Given the description of an element on the screen output the (x, y) to click on. 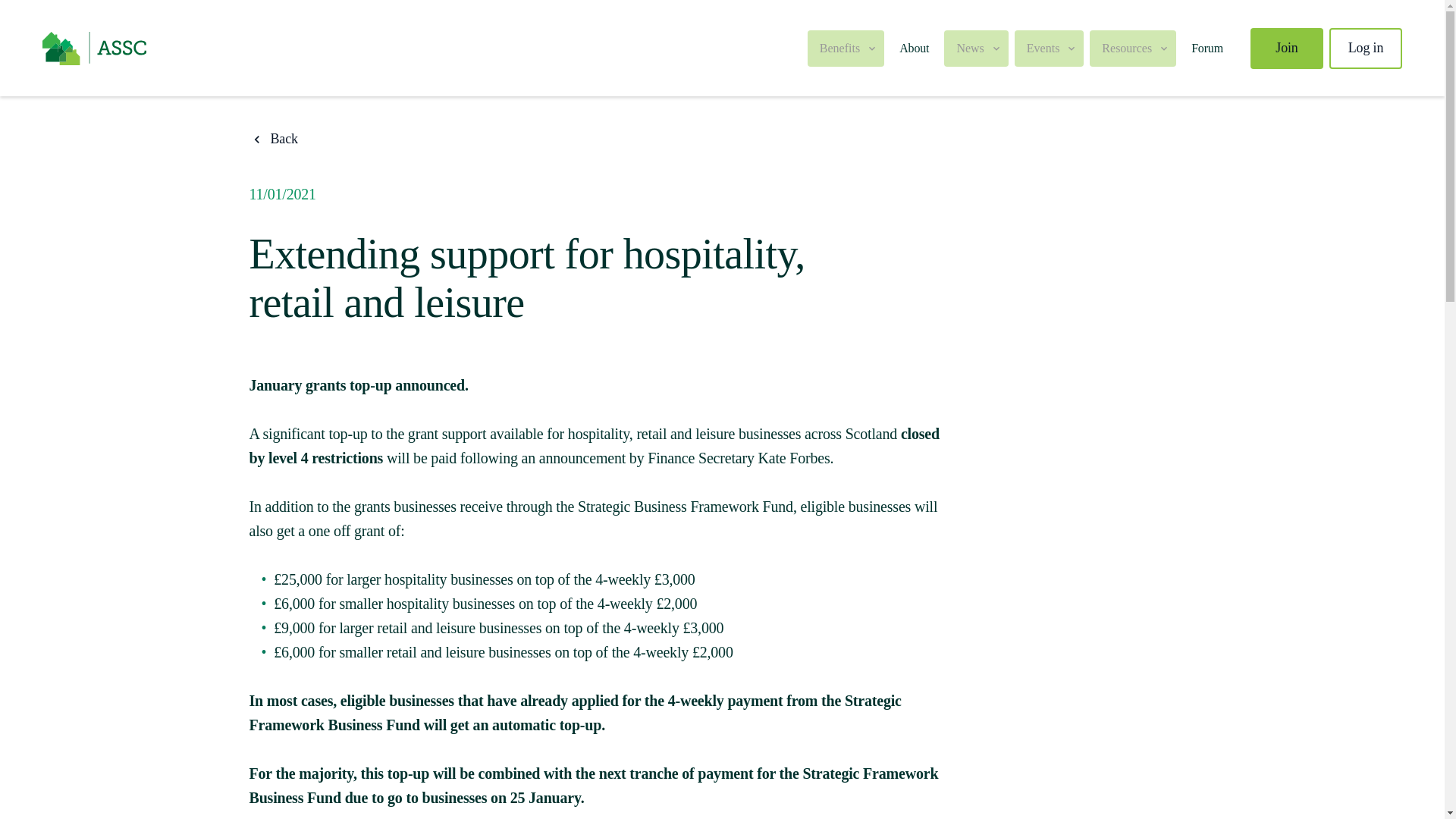
Resources (1132, 48)
News (975, 48)
Log in (1365, 47)
Forum (1206, 47)
About (913, 47)
Benefits (845, 48)
Join (1286, 47)
Events (1049, 48)
